Given the description of an element on the screen output the (x, y) to click on. 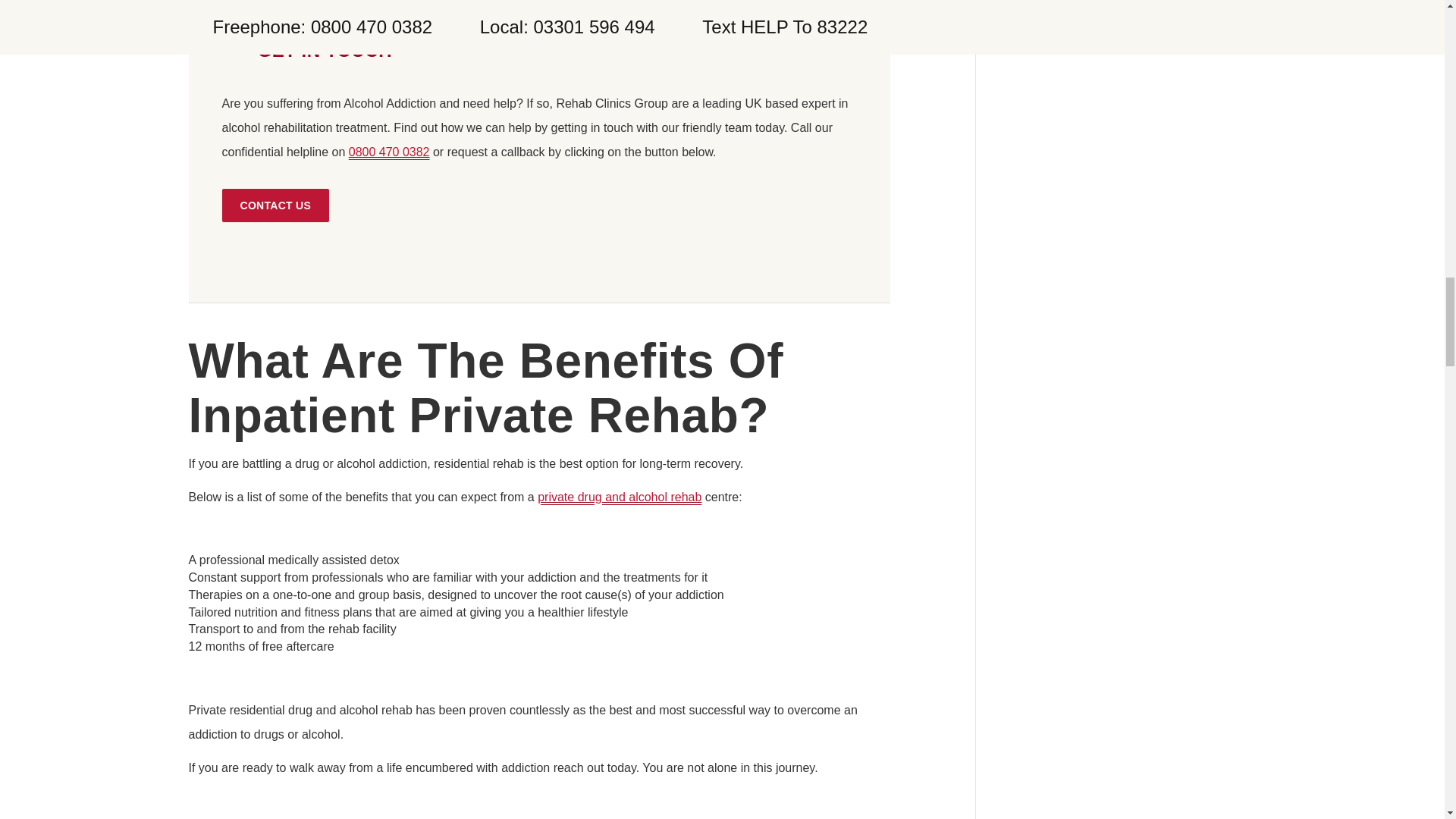
Get in Touch (275, 205)
